Given the description of an element on the screen output the (x, y) to click on. 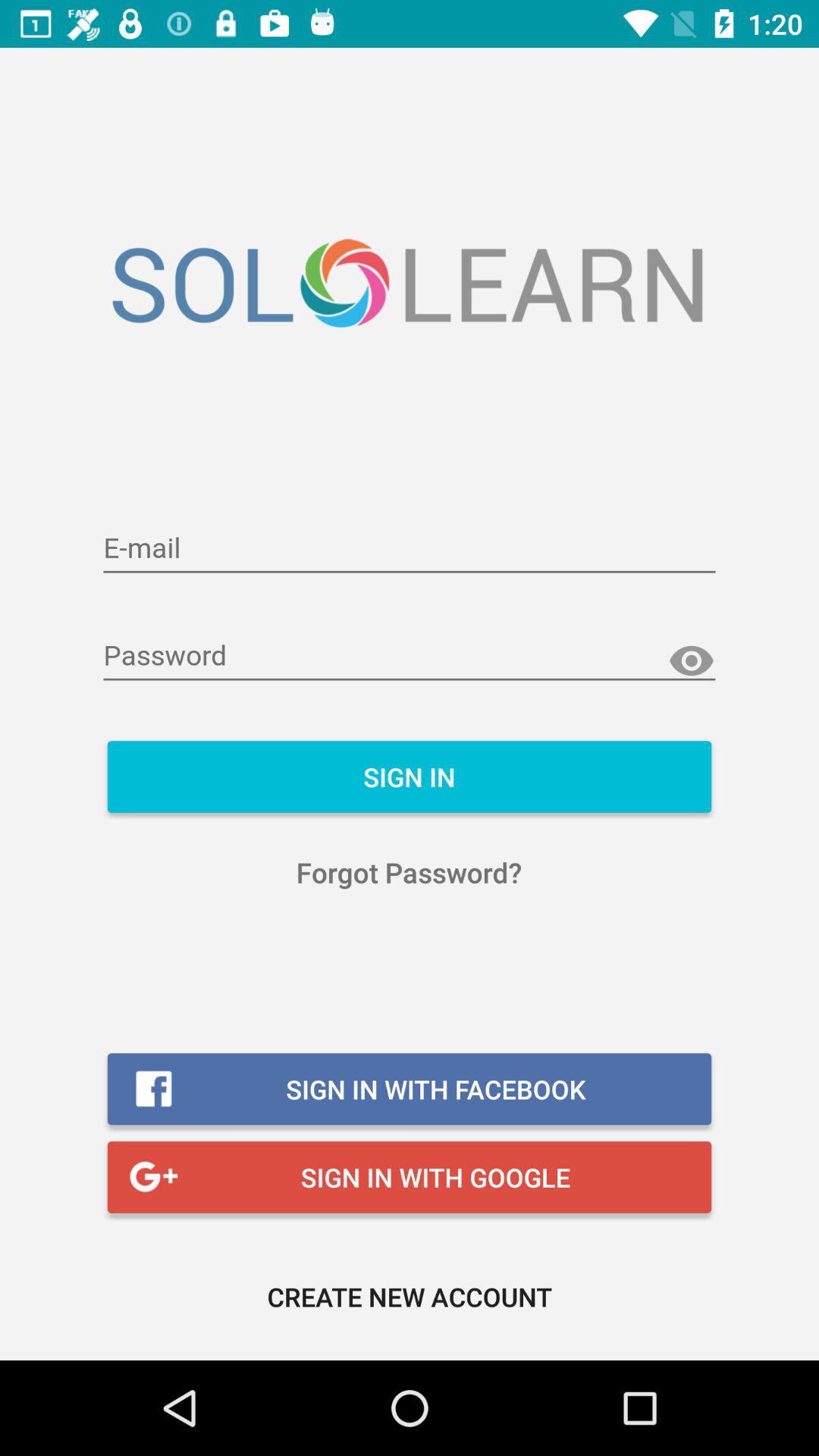
tap item above the sign in with (409, 872)
